Given the description of an element on the screen output the (x, y) to click on. 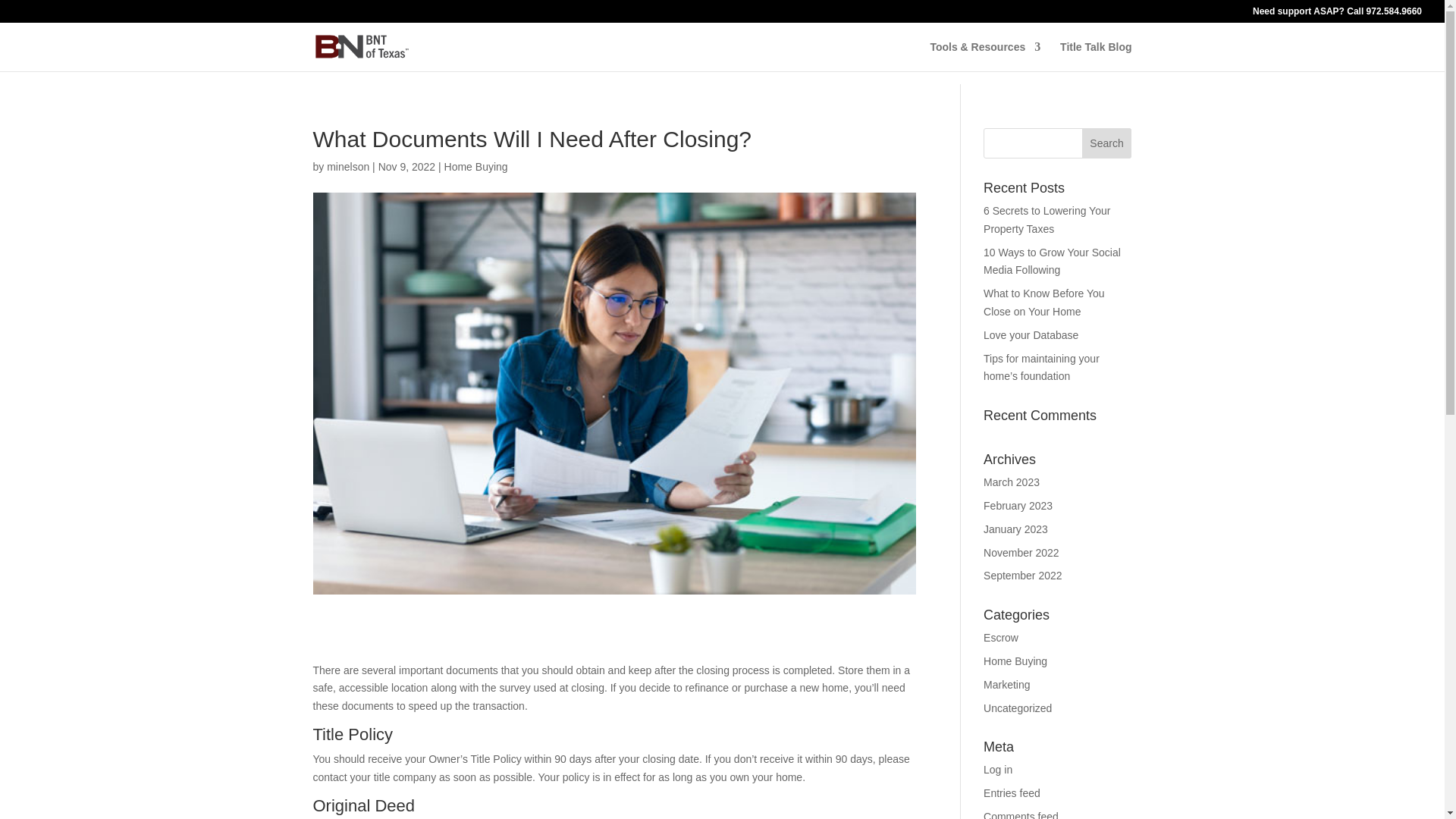
Escrow (1000, 637)
Posts by minelson (347, 166)
Uncategorized (1017, 707)
6 Secrets to Lowering Your Property Taxes (1046, 219)
November 2022 (1021, 552)
Marketing (1006, 684)
Home Buying (476, 166)
minelson (347, 166)
Search (1106, 142)
Title Talk Blog (1095, 56)
